Given the description of an element on the screen output the (x, y) to click on. 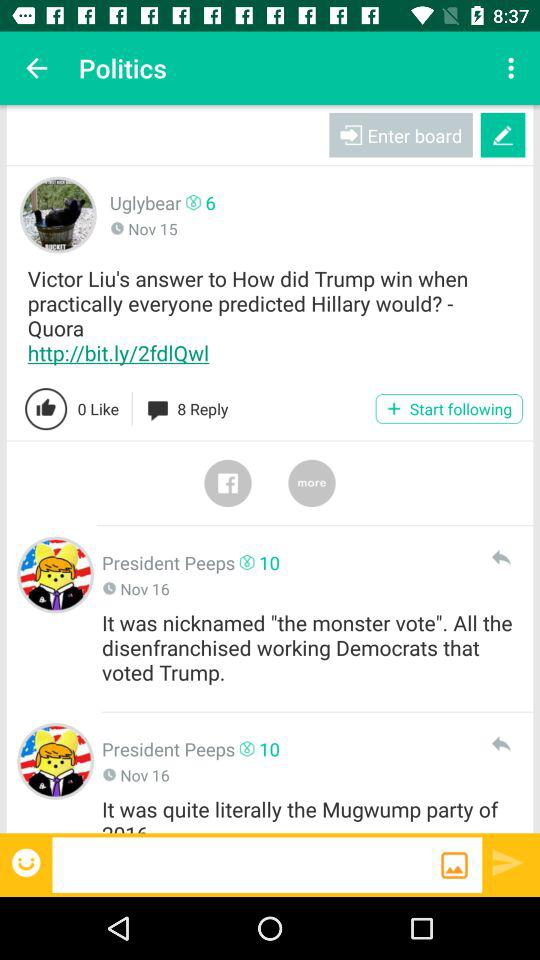
share comment (500, 557)
